Given the description of an element on the screen output the (x, y) to click on. 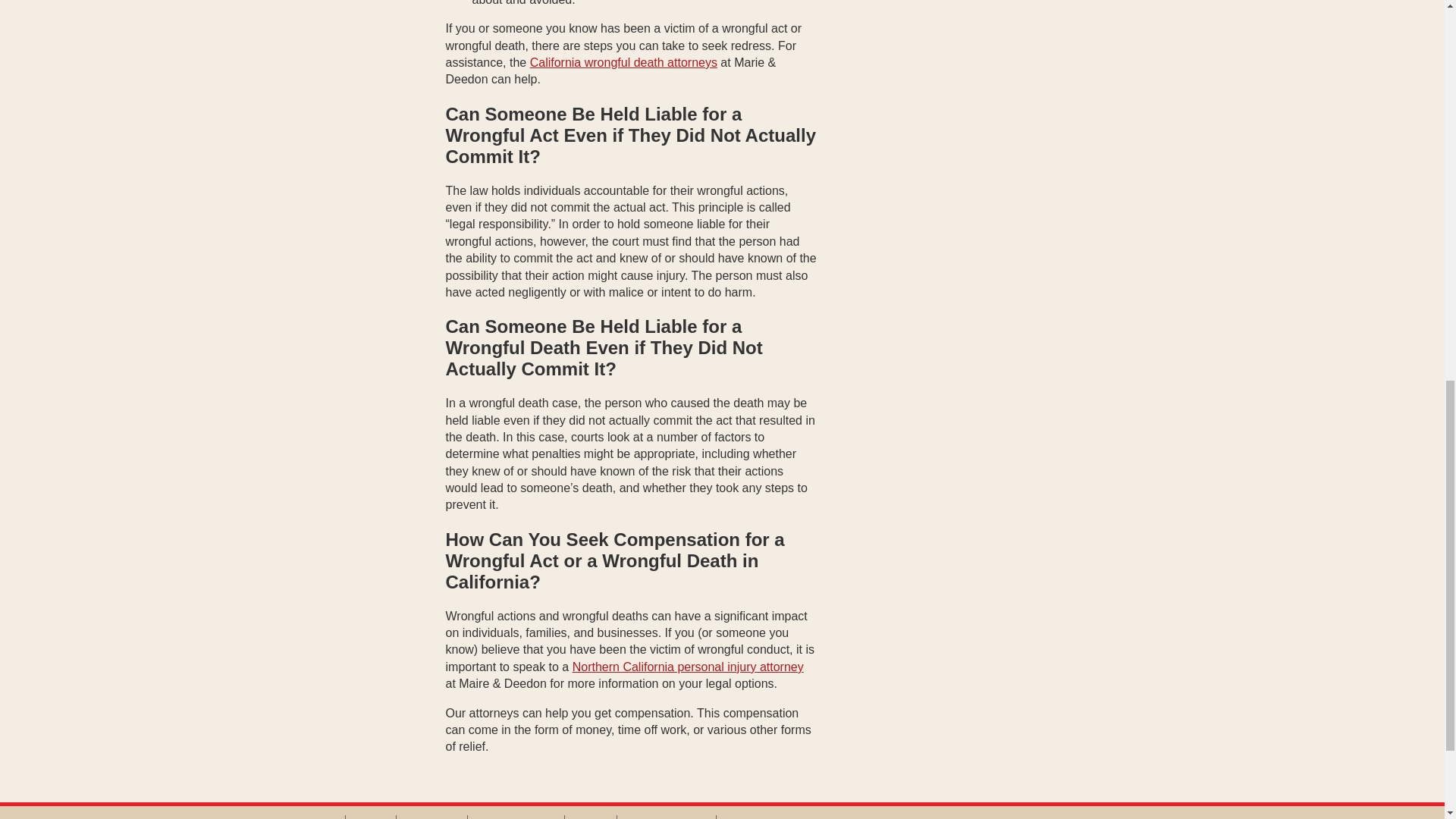
Northern California personal injury attorney (687, 666)
California wrongful death attorneys (623, 62)
